Given the description of an element on the screen output the (x, y) to click on. 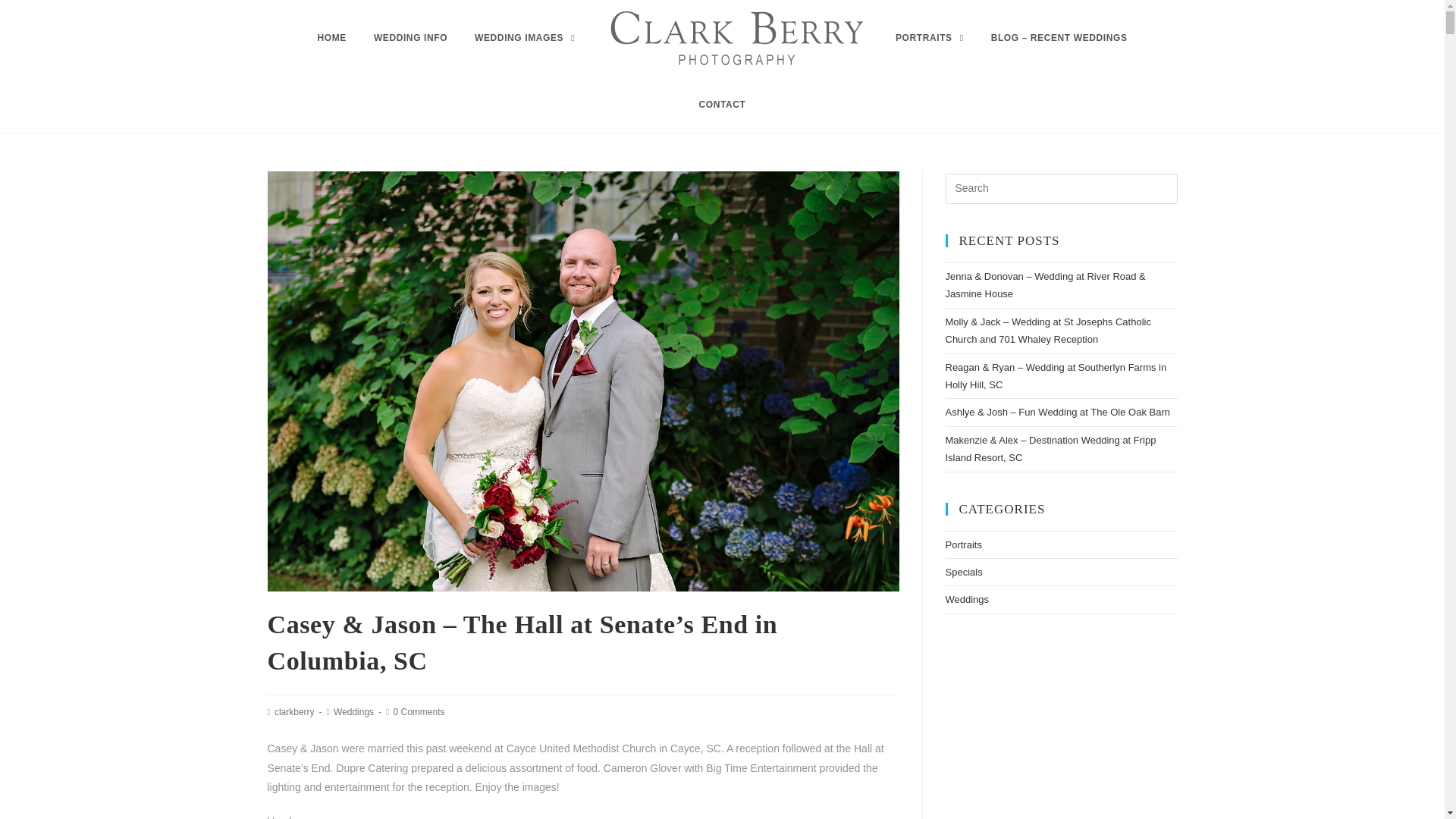
WEDDING INFO (410, 37)
clarkberry (294, 711)
PORTRAITS (929, 37)
CONTACT (722, 104)
Posts by clarkberry (294, 711)
Weddings (353, 711)
HOME (330, 37)
WEDDING IMAGES (524, 37)
0 Comments (419, 711)
